Given the description of an element on the screen output the (x, y) to click on. 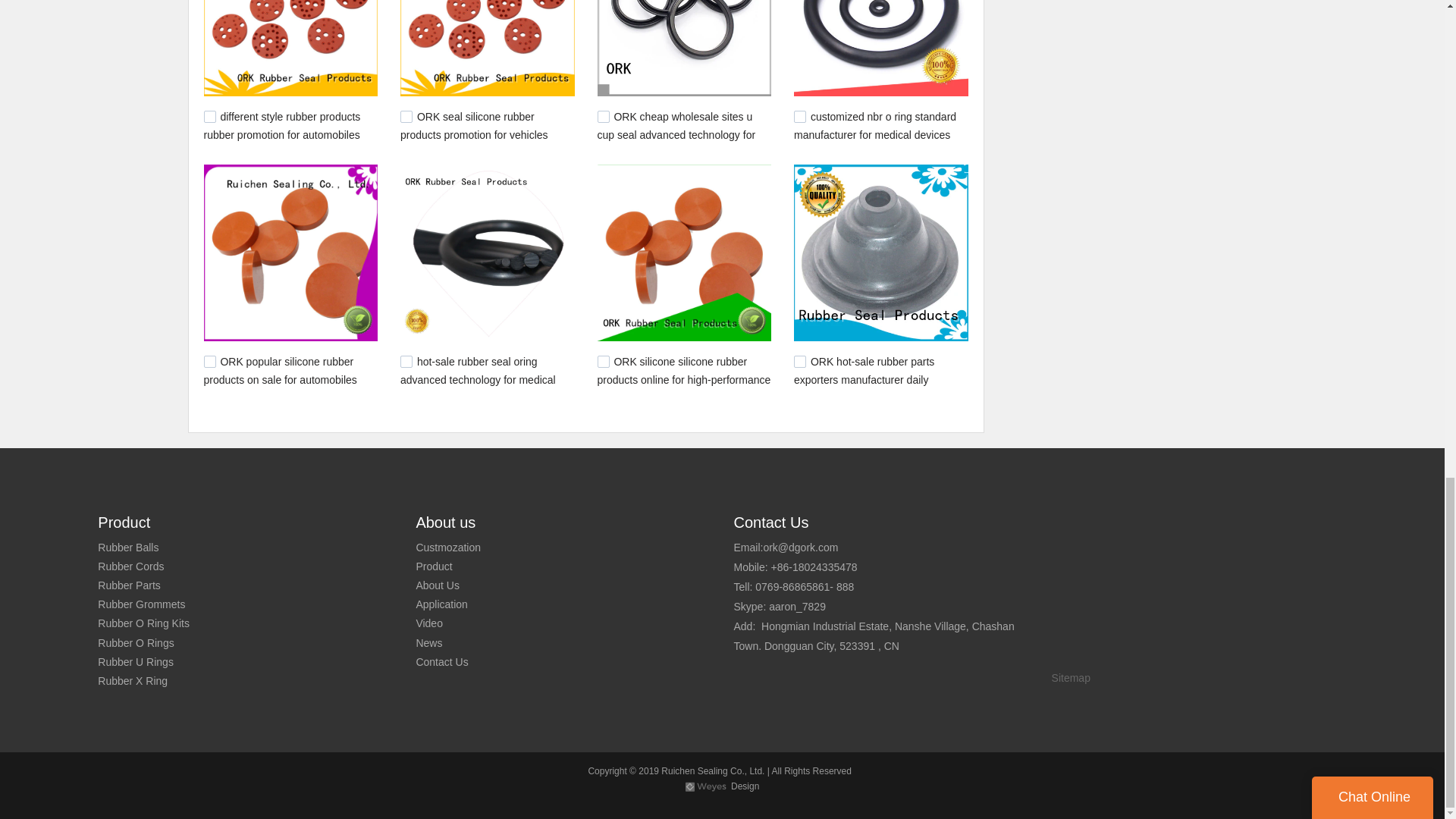
591 (603, 361)
850 (406, 116)
638 (406, 361)
861 (209, 116)
ORK popular silicone rubber products on sale for automobiles (279, 370)
836 (603, 116)
ORK seal silicone rubber products promotion for vehicles (474, 125)
hot-sale rubber seal oring advanced technology for medical (478, 370)
771 (209, 361)
345 (799, 361)
810 (799, 116)
